Given the description of an element on the screen output the (x, y) to click on. 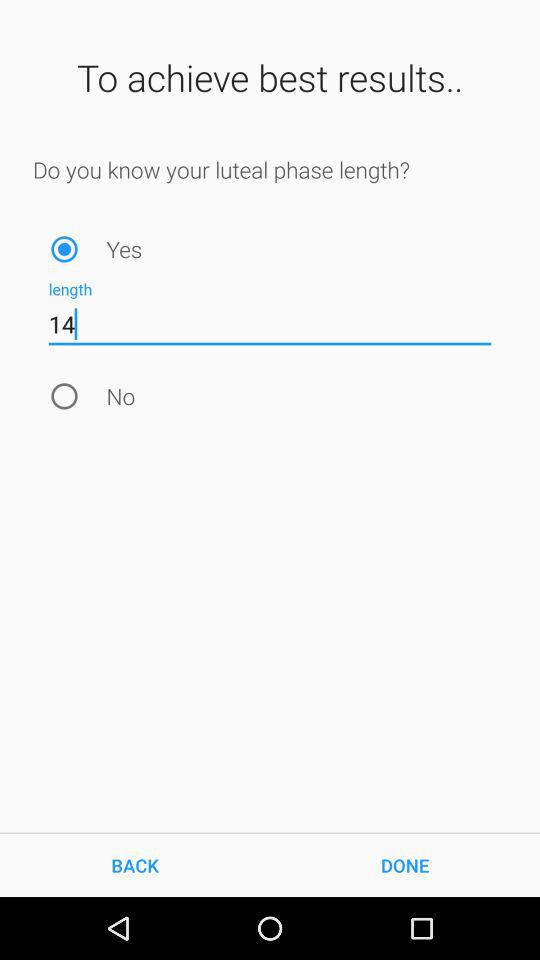
open the item above the 14 (64, 248)
